Given the description of an element on the screen output the (x, y) to click on. 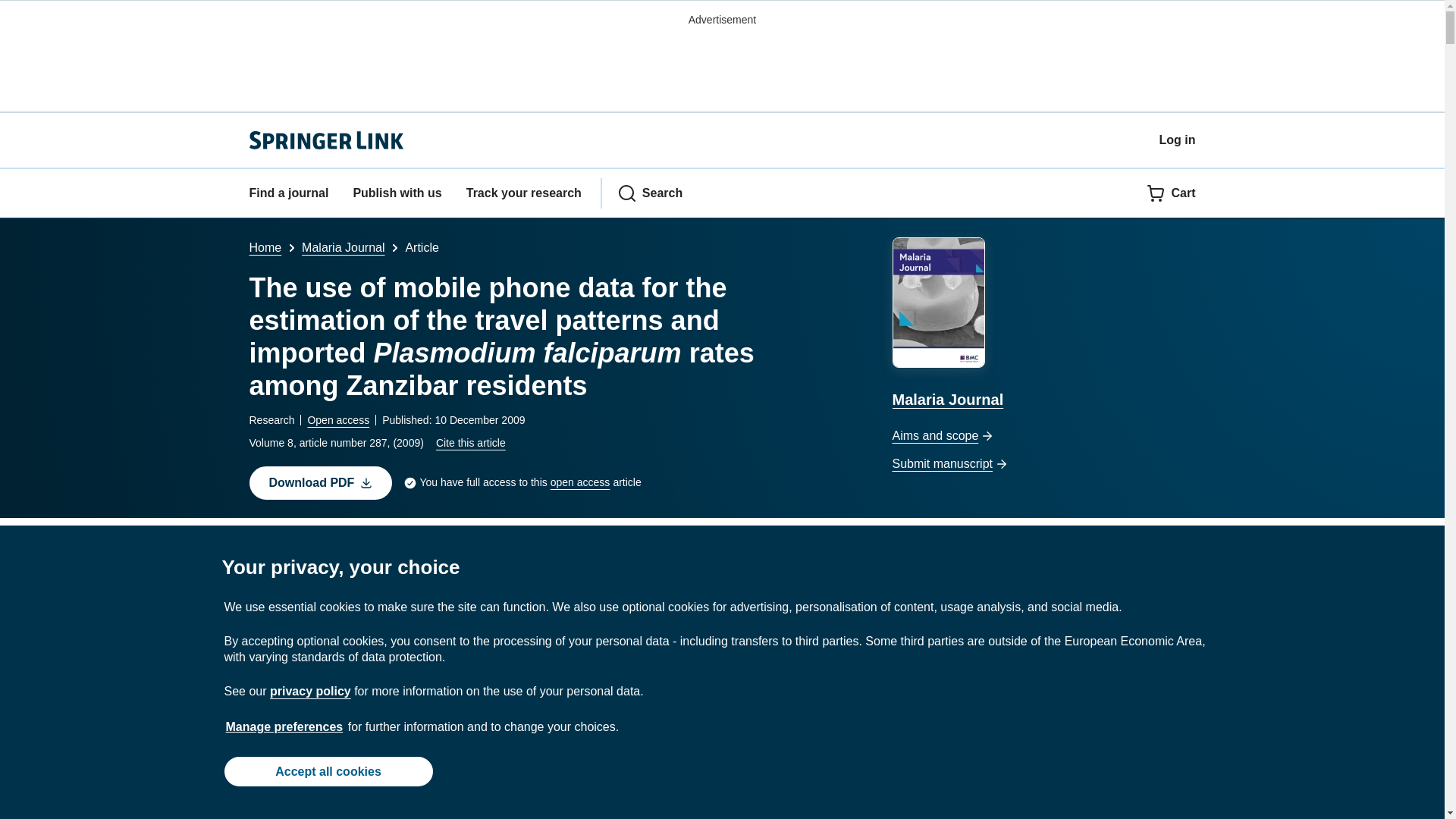
Explore all metrics (722, 588)
open access (580, 482)
Malaria Journal (1043, 325)
David L Smith (478, 548)
Open access (338, 419)
Download PDF (319, 482)
Bruno Moonen (725, 548)
Oliver Sabot (555, 548)
Malaria Journal (342, 246)
Abdullah S Ali (633, 548)
Manage preferences (284, 726)
Log in (1177, 139)
privacy policy (309, 690)
Andrew J Tatem (303, 548)
Find a journal (288, 192)
